Given the description of an element on the screen output the (x, y) to click on. 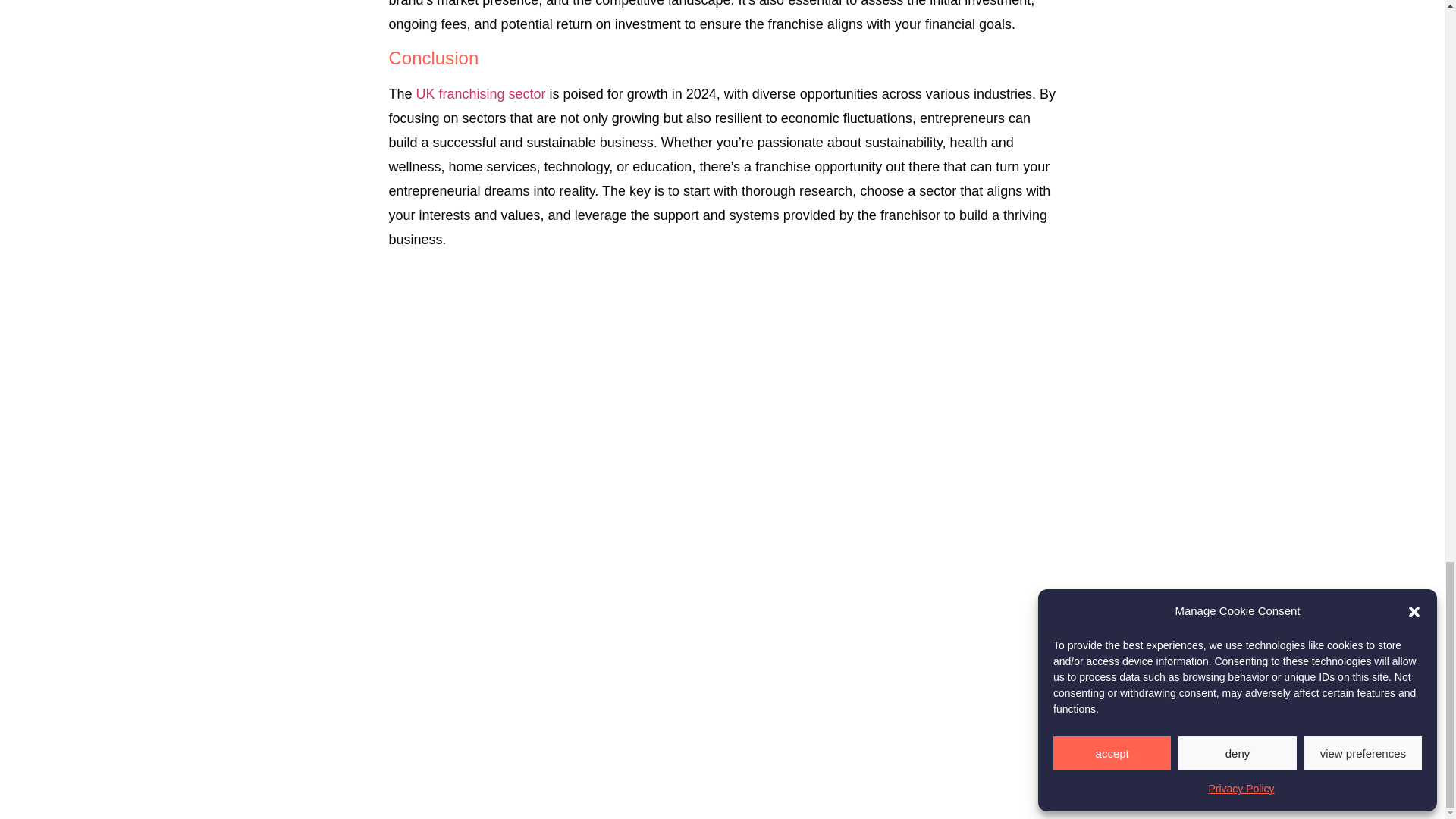
UK franchising sector (481, 93)
